Given the description of an element on the screen output the (x, y) to click on. 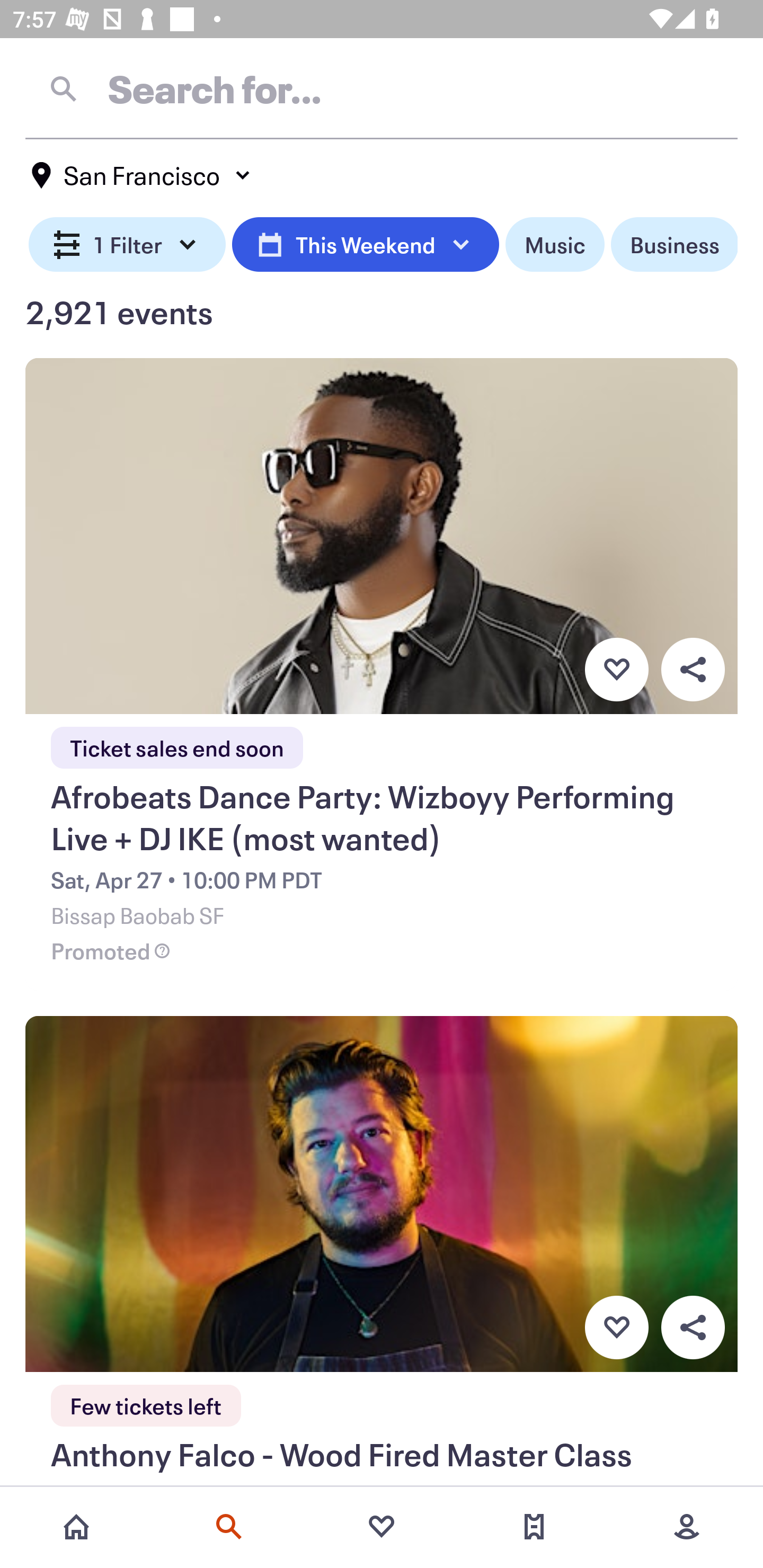
Search for… (381, 88)
San Francisco (141, 175)
1 Filter (126, 244)
This Weekend (365, 244)
Music (554, 244)
Business (674, 244)
Favorite button (616, 669)
Overflow menu button (692, 669)
Favorite button (616, 1326)
Overflow menu button (692, 1326)
Home (76, 1526)
Search events (228, 1526)
Favorites (381, 1526)
Tickets (533, 1526)
More (686, 1526)
